Given the description of an element on the screen output the (x, y) to click on. 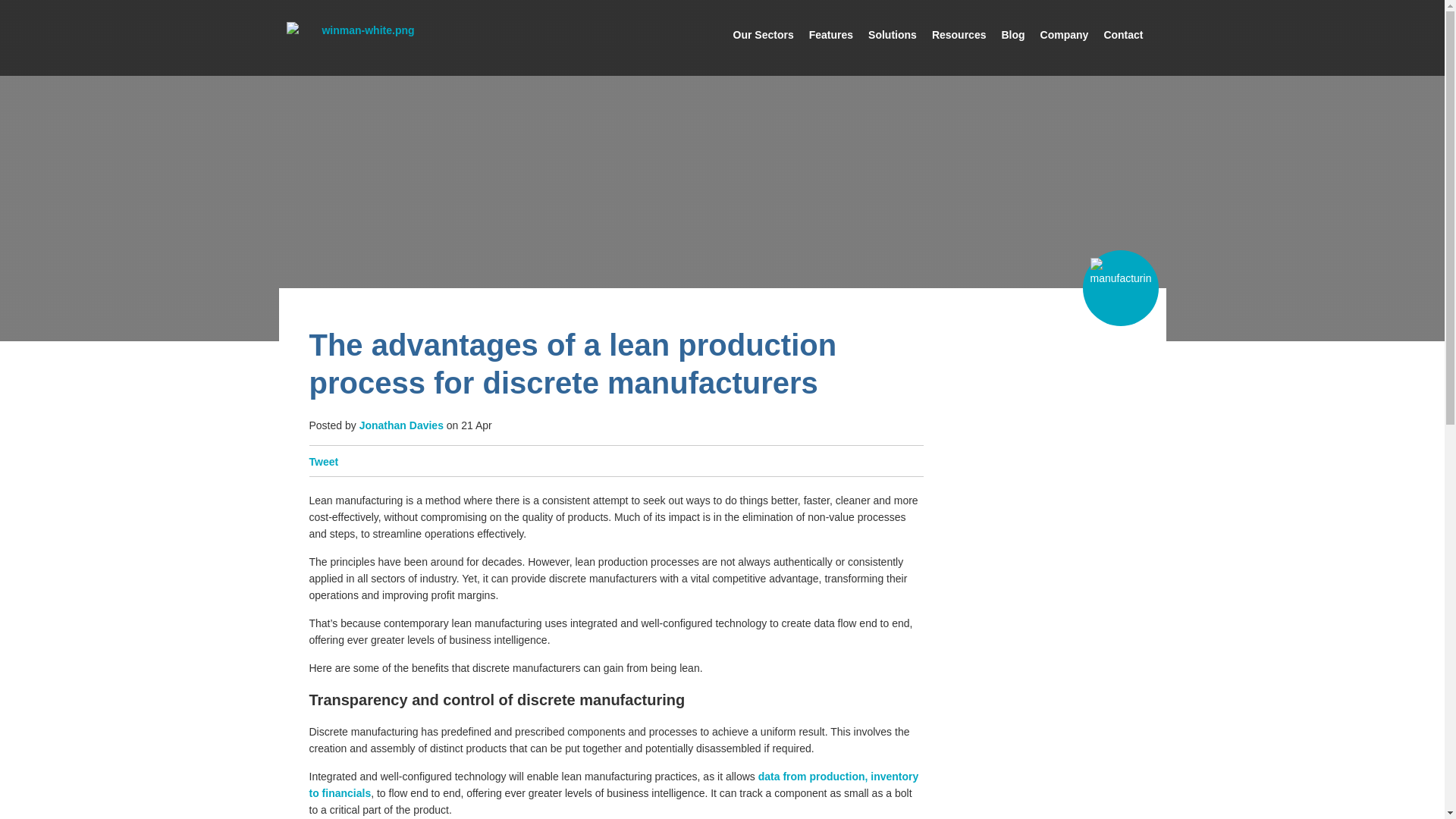
winman-white.png (362, 30)
Features (831, 51)
Our Sectors (763, 51)
